Given the description of an element on the screen output the (x, y) to click on. 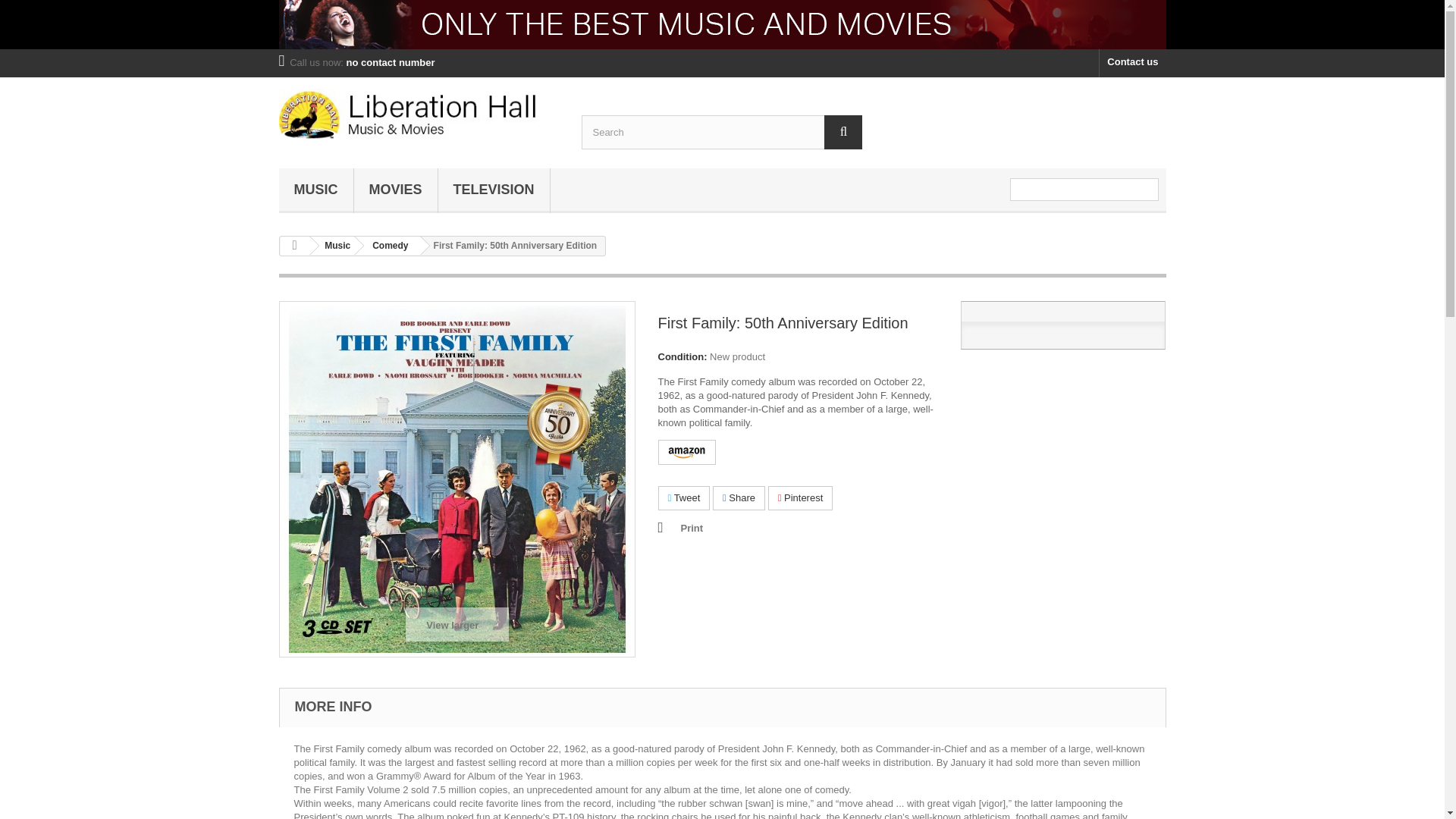
vintage rock n roll music (722, 24)
Music (316, 190)
Television (494, 190)
Share (739, 498)
Contact us (1132, 62)
Pinterest (800, 498)
Comedy (387, 245)
MOVIES (394, 190)
MUSIC (316, 190)
Music (334, 245)
